Given the description of an element on the screen output the (x, y) to click on. 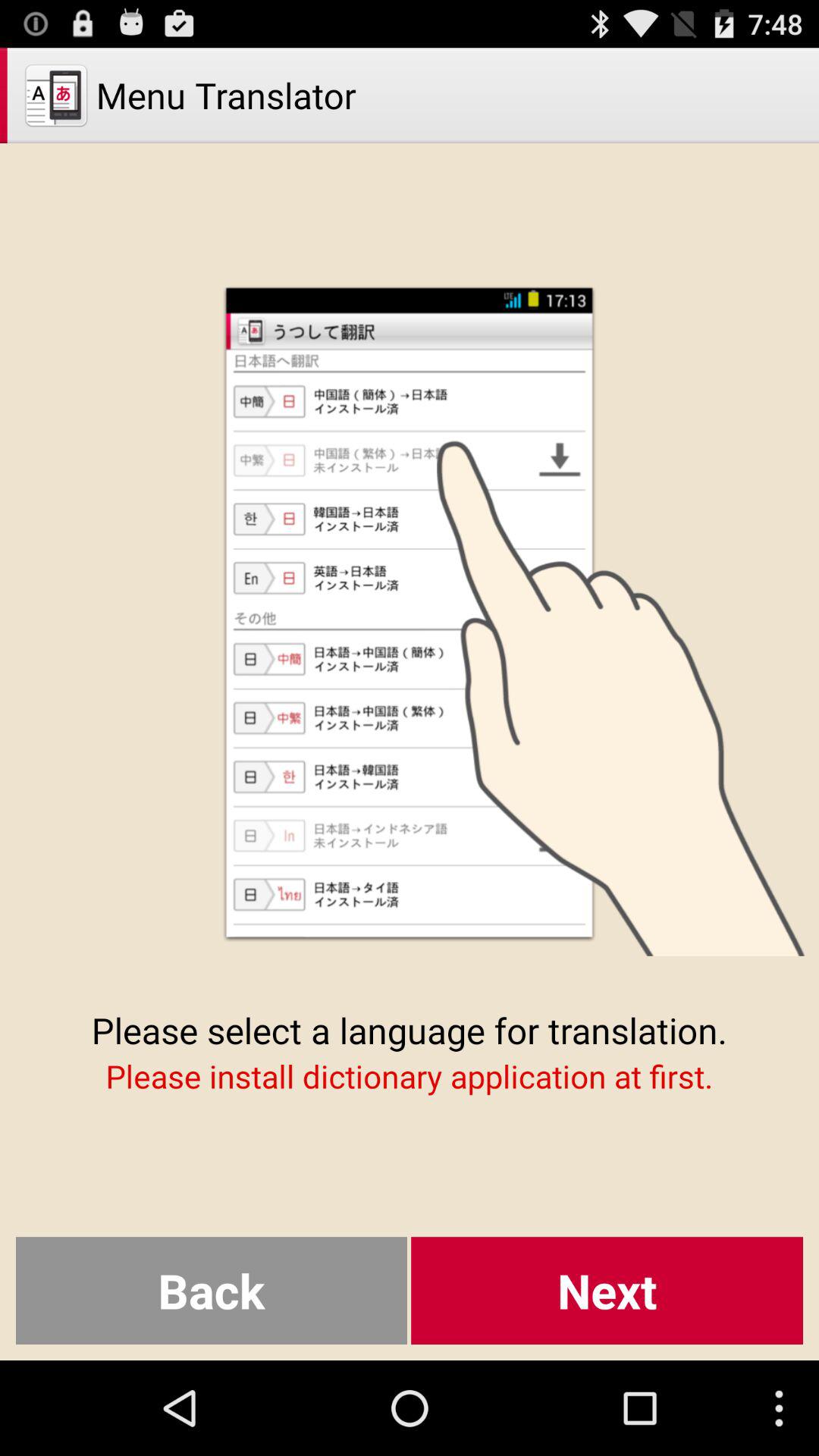
tap the button next to the next item (211, 1290)
